Given the description of an element on the screen output the (x, y) to click on. 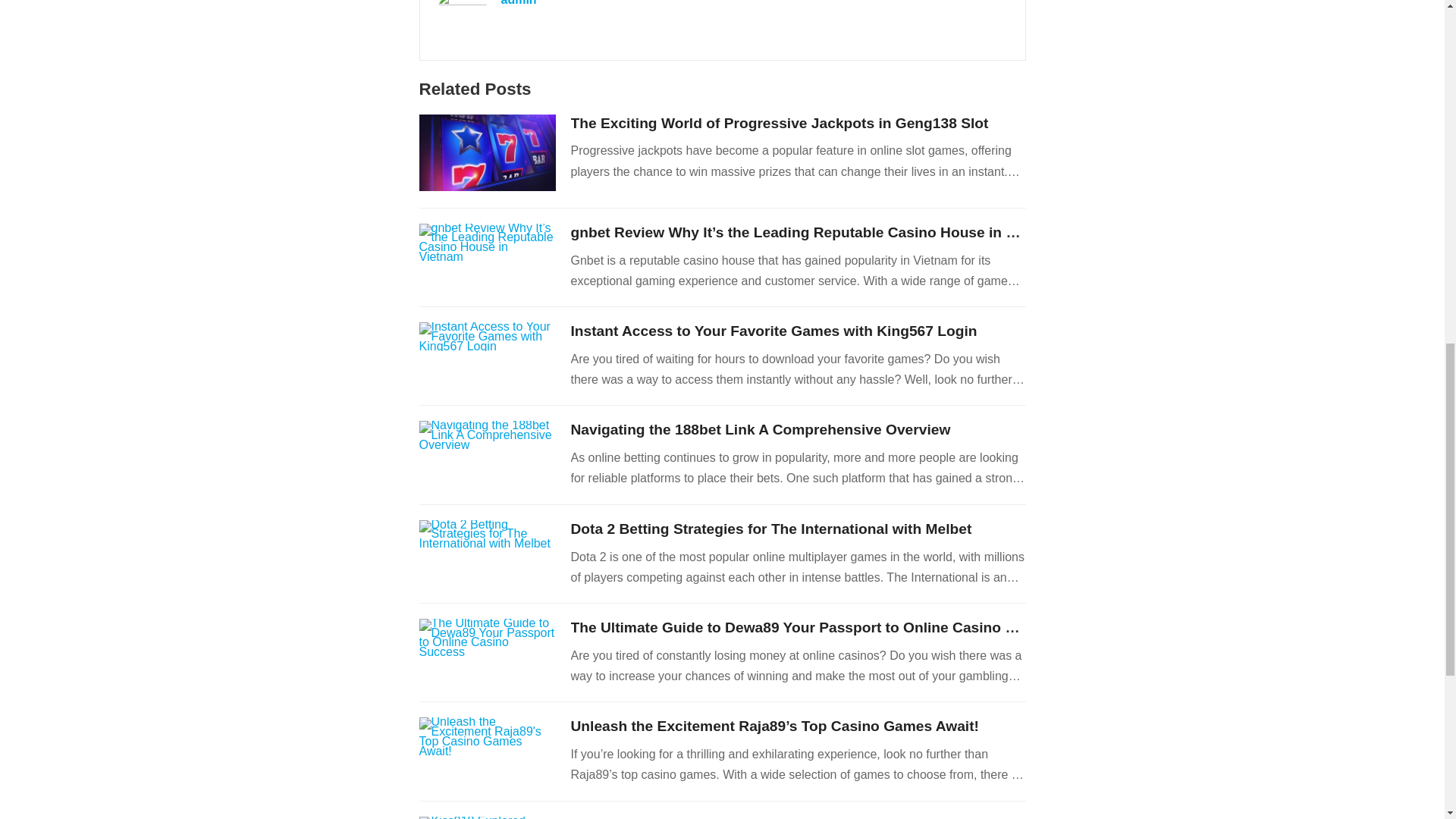
admin (517, 2)
Navigating the 188bet Link A Comprehensive Overview (760, 429)
Dota 2 Betting Strategies for The International with Melbet (770, 528)
Instant Access to Your Favorite Games with King567 Login (773, 330)
The Exciting World of Progressive Jackpots in Geng138 Slot (779, 123)
